Given the description of an element on the screen output the (x, y) to click on. 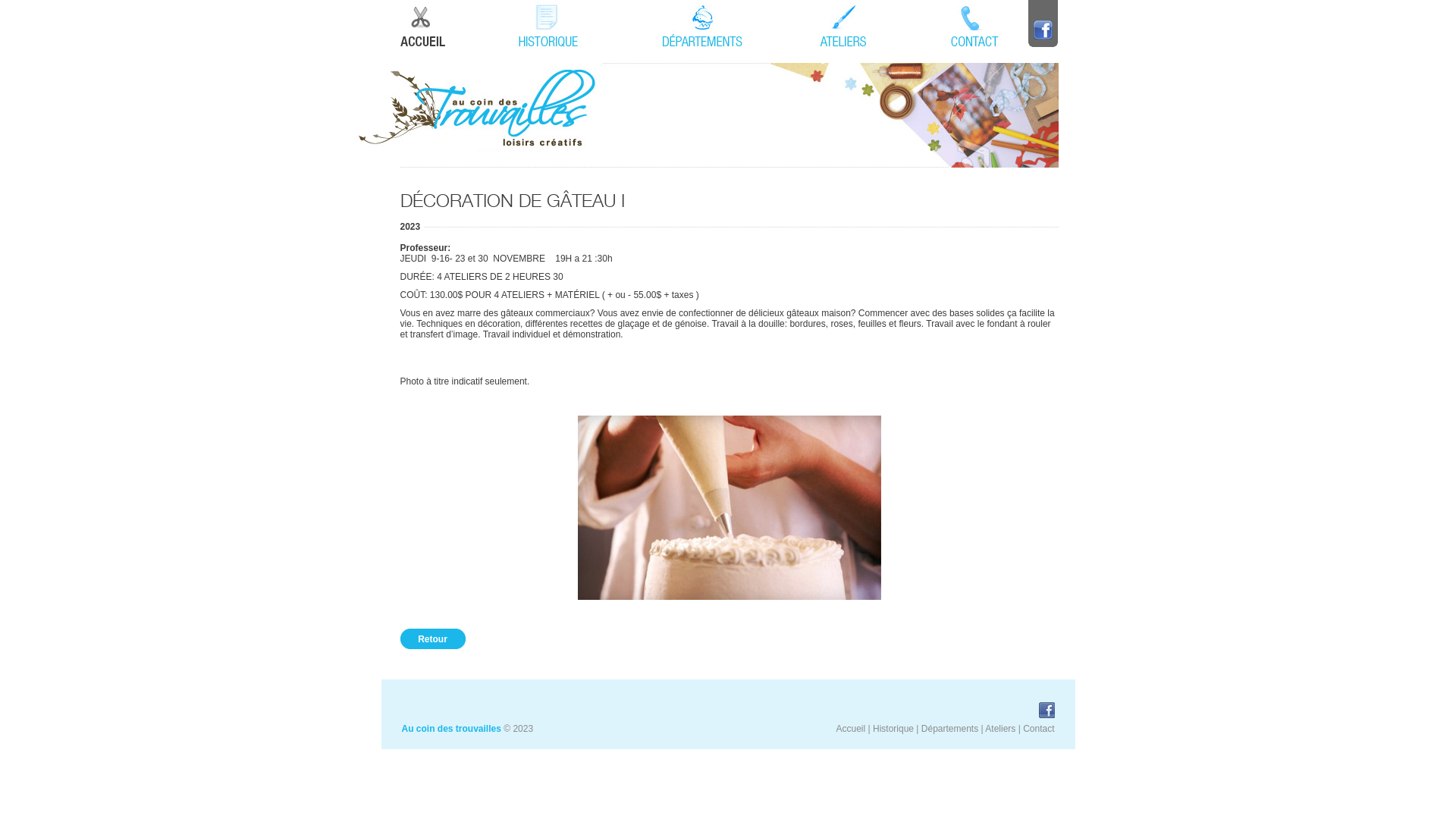
ATELIERS Element type: text (842, 24)
Historique Element type: text (892, 728)
Retour Element type: text (432, 638)
FACEBOOK Element type: text (1042, 24)
HISTORIQUE Element type: text (547, 24)
CONTACT Element type: text (973, 24)
Ateliers Element type: text (1000, 728)
ACCUEIL Element type: text (422, 24)
Accueil Element type: text (851, 728)
Contact Element type: text (1038, 728)
